Given the description of an element on the screen output the (x, y) to click on. 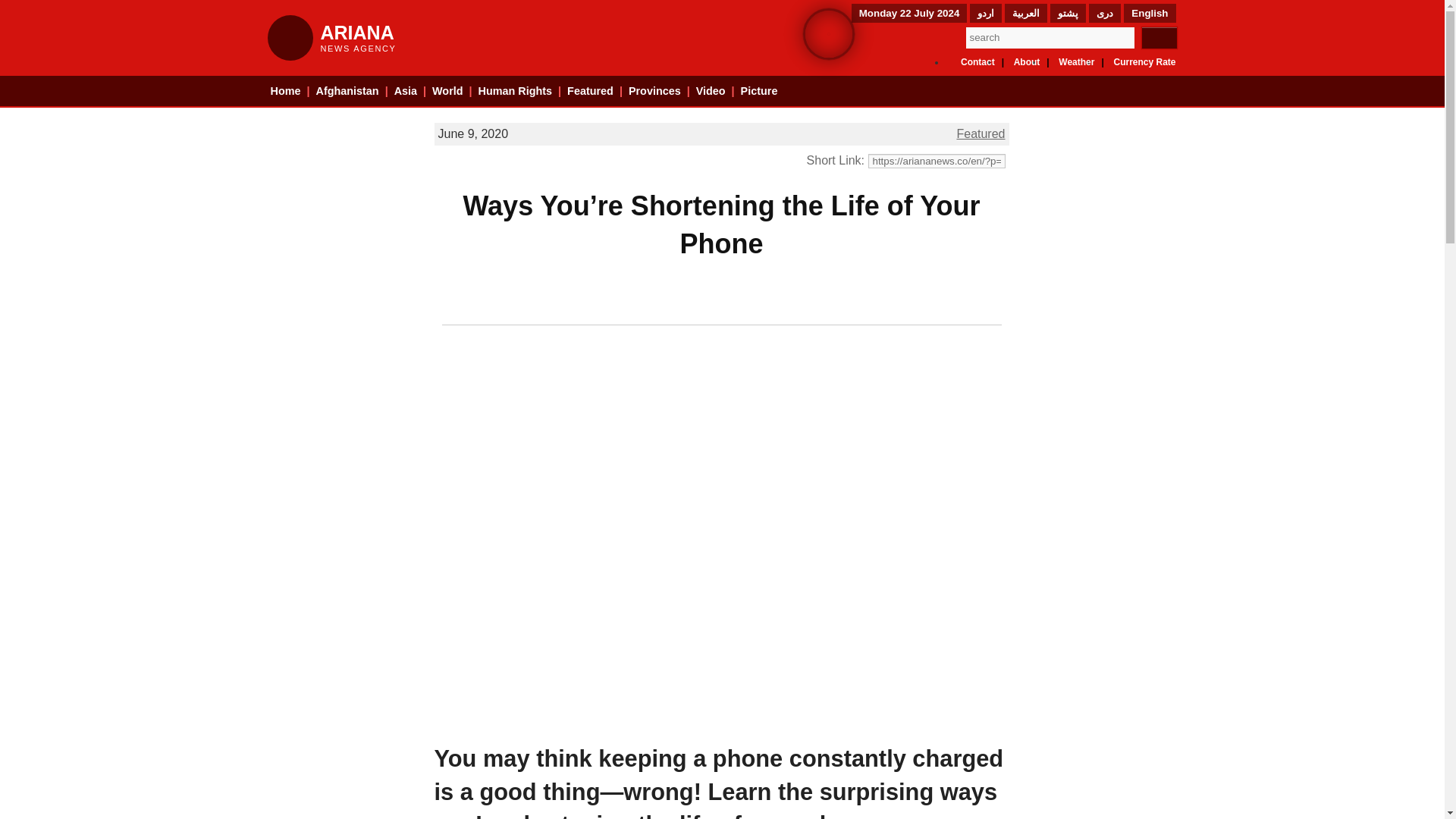
World (447, 91)
Home (284, 91)
Human Rights (516, 91)
Featured (589, 91)
World (447, 91)
Contact (977, 61)
Contact (977, 61)
Picture (759, 91)
Currency Rate (1143, 61)
Provinces (654, 91)
Afghanistan (331, 37)
Human Rights (346, 91)
About (516, 91)
Asia (1027, 61)
